Given the description of an element on the screen output the (x, y) to click on. 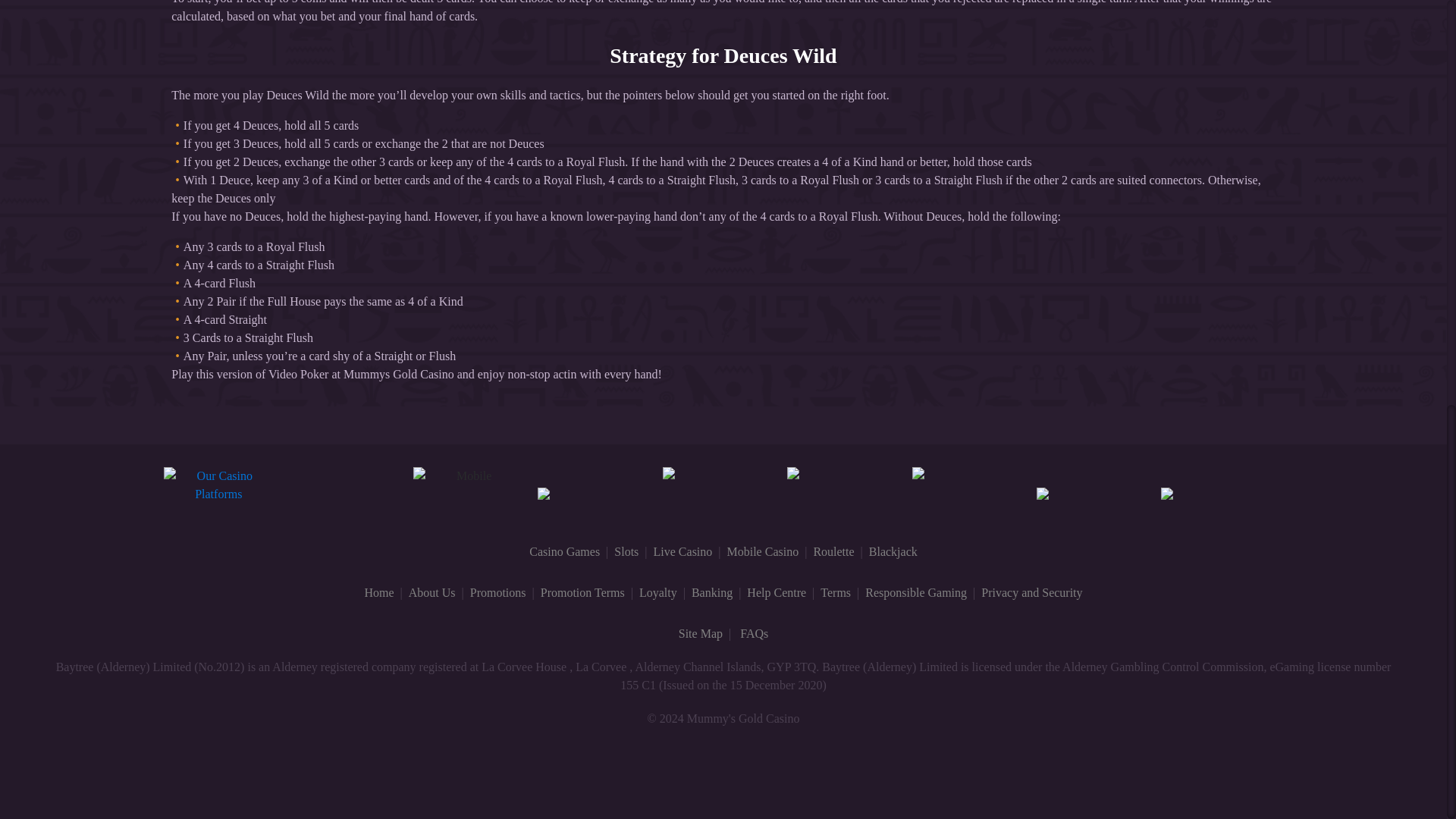
Casino Games (564, 551)
Roulette (832, 551)
Blackjack (893, 551)
About Us (432, 592)
Promotions (497, 592)
Live Casino (683, 551)
Mobile Casino (761, 551)
Home (378, 592)
Slots (626, 551)
